Given the description of an element on the screen output the (x, y) to click on. 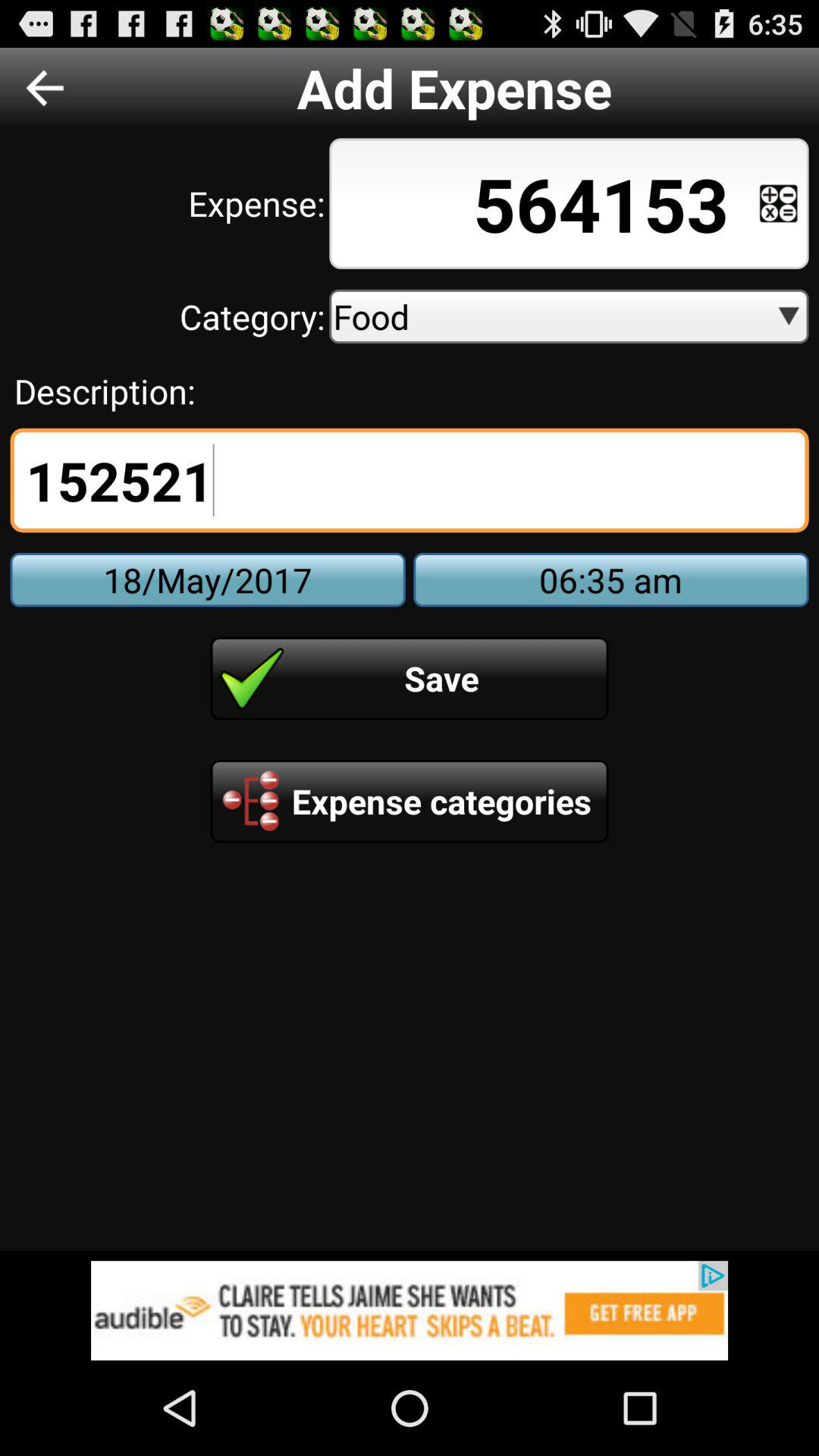
go back (44, 87)
